Given the description of an element on the screen output the (x, y) to click on. 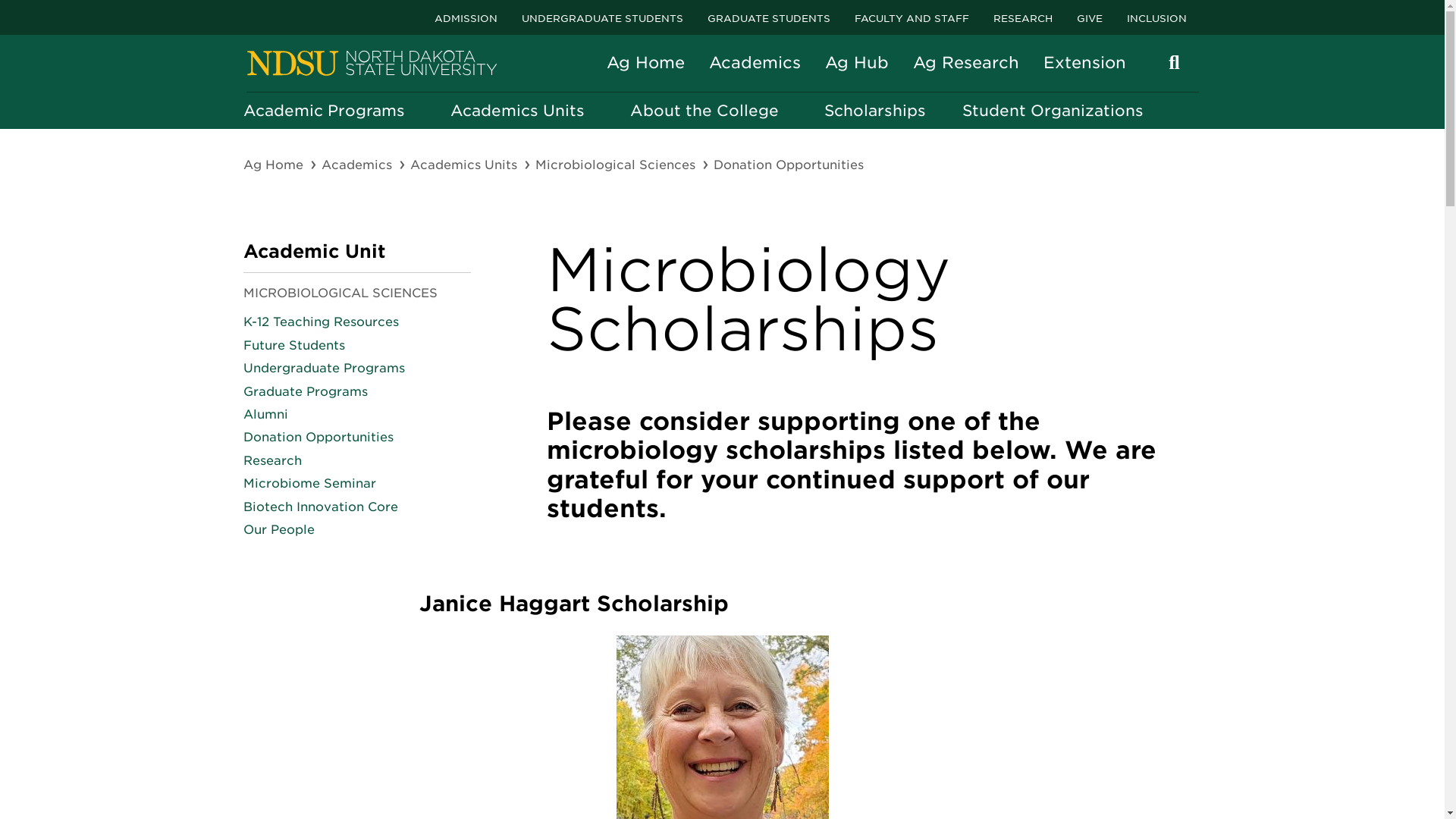
GIVE (1089, 17)
Home (370, 62)
Ag Hub (856, 62)
Academic Programs (327, 110)
Ag Home (274, 164)
INCLUSION (1156, 17)
Microbiological Sciences (616, 164)
Ag Research (965, 62)
Student Organizations (1051, 110)
ADMISSION (465, 17)
Academics (357, 164)
UNDERGRADUATE STUDENTS (602, 17)
About the College (708, 110)
Academics Units (464, 164)
GRADUATE STUDENTS (767, 17)
